Given the description of an element on the screen output the (x, y) to click on. 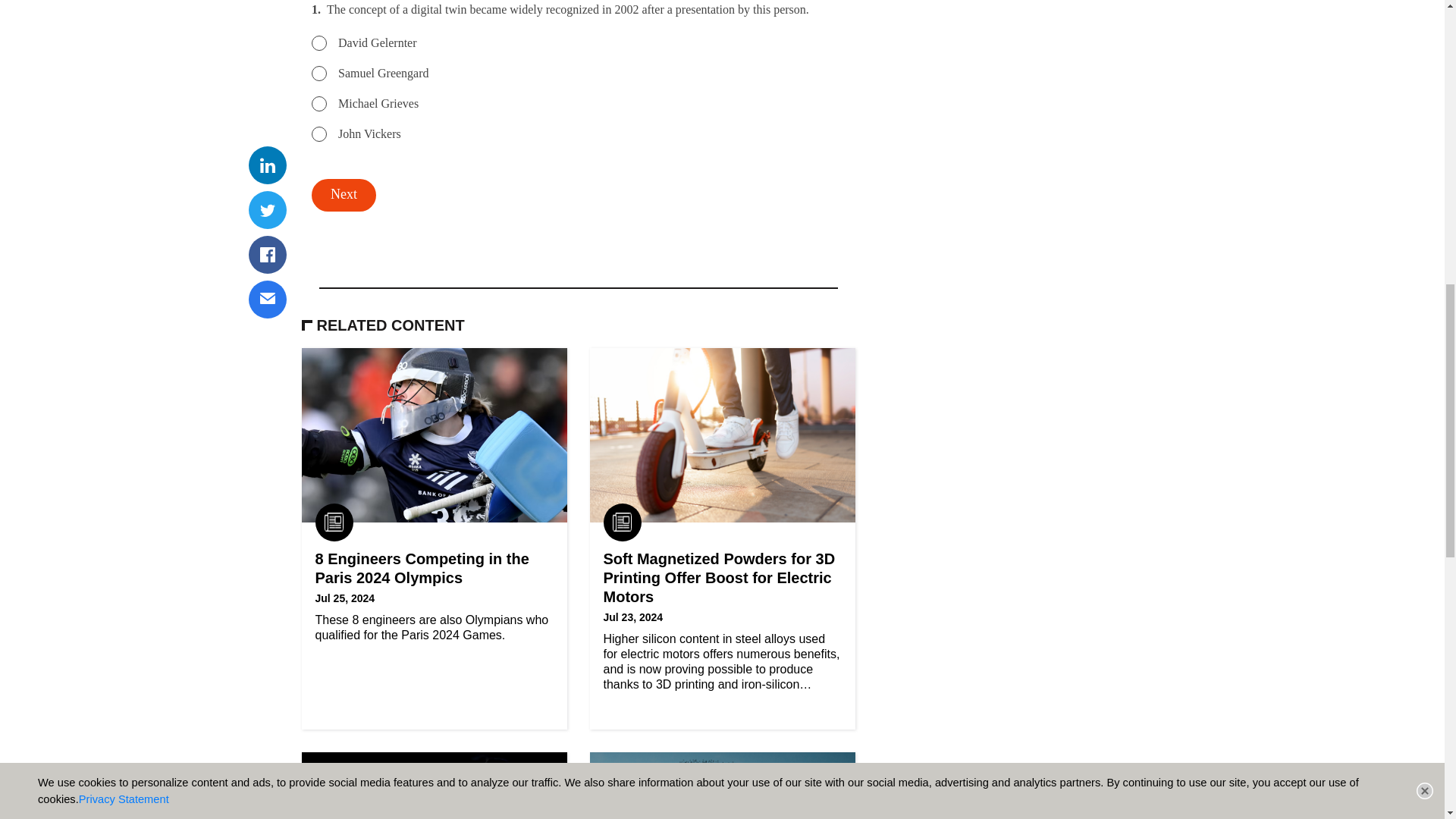
Interaction questions (579, 117)
